Given the description of an element on the screen output the (x, y) to click on. 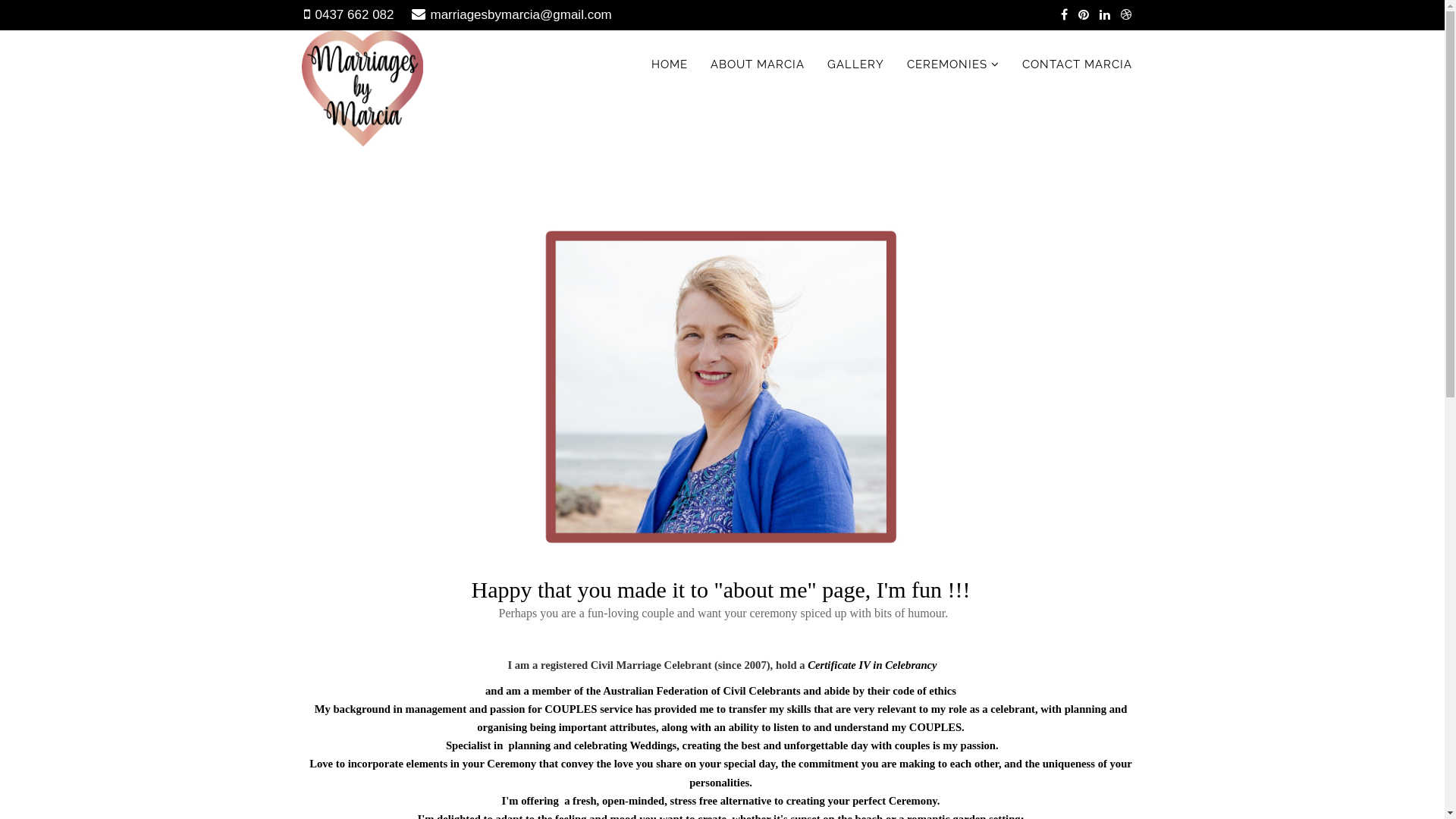
Certificate IV in Celebrancy Element type: text (871, 664)
HOME Element type: text (669, 64)
marriagesbymarcia@gmail.com Element type: text (520, 14)
ABOUT MARCIA Element type: text (757, 64)
GALLERY Element type: text (855, 64)
CEREMONIES Element type: text (952, 64)
CONTACT MARCIA Element type: text (1076, 64)
0437 662 082 Element type: text (354, 14)
